Given the description of an element on the screen output the (x, y) to click on. 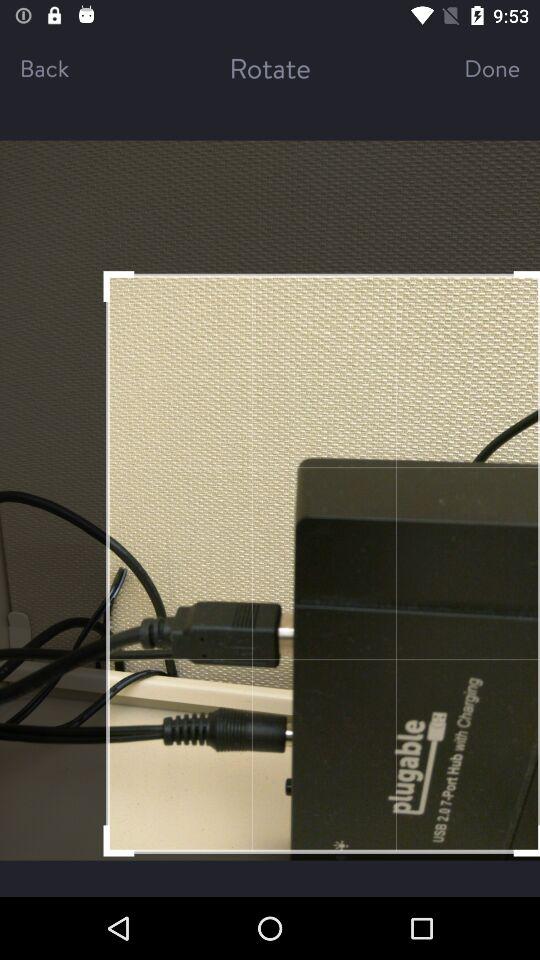
choose the done item (474, 67)
